Given the description of an element on the screen output the (x, y) to click on. 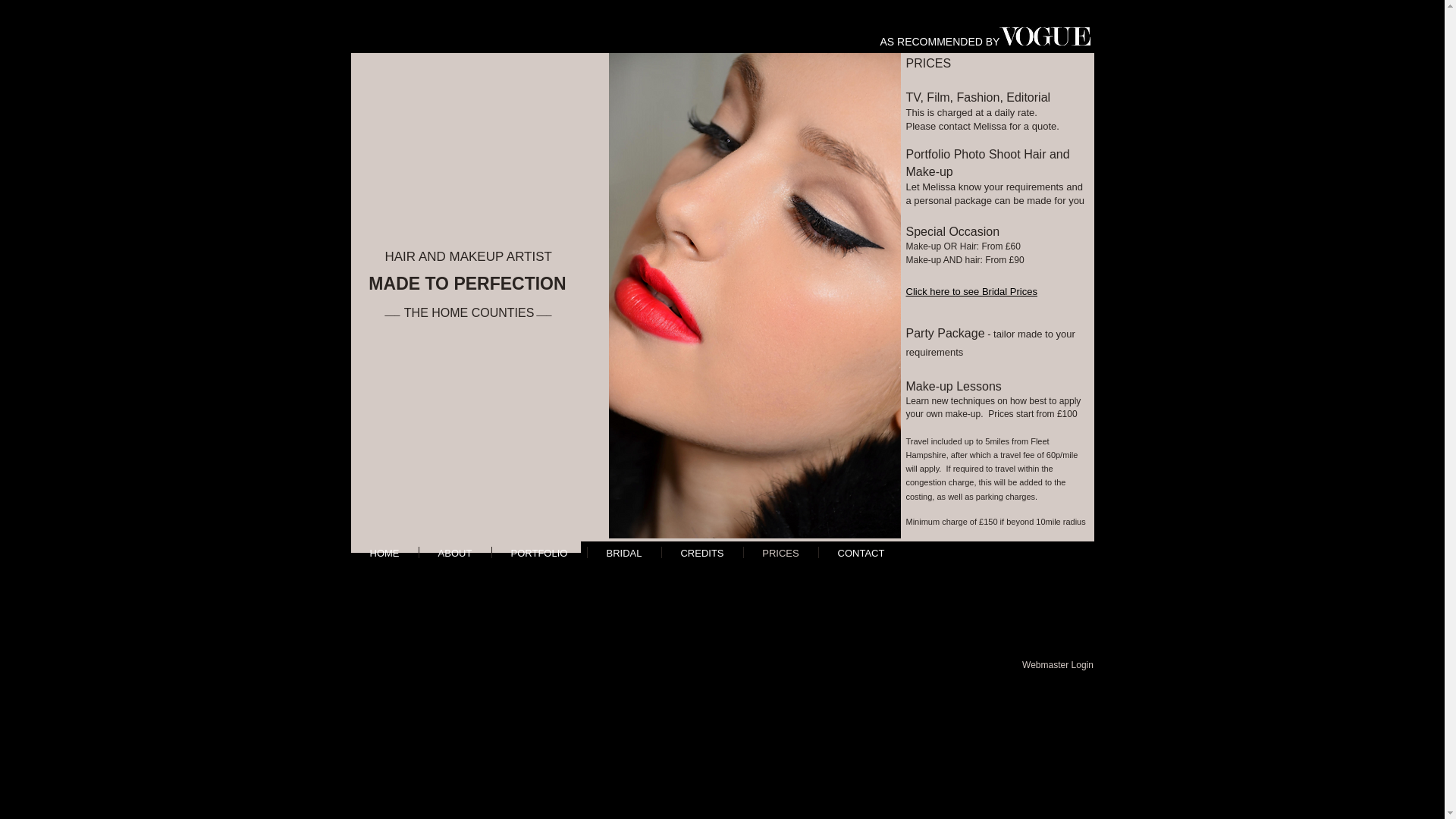
CONTACT (861, 552)
CREDITS (701, 552)
PRICES (779, 552)
Click here to see Bridal Prices (970, 291)
Webmaster Login (1057, 664)
HOME (383, 552)
ABOUT (454, 552)
BRIDAL (623, 552)
PORTFOLIO (539, 552)
